Given the description of an element on the screen output the (x, y) to click on. 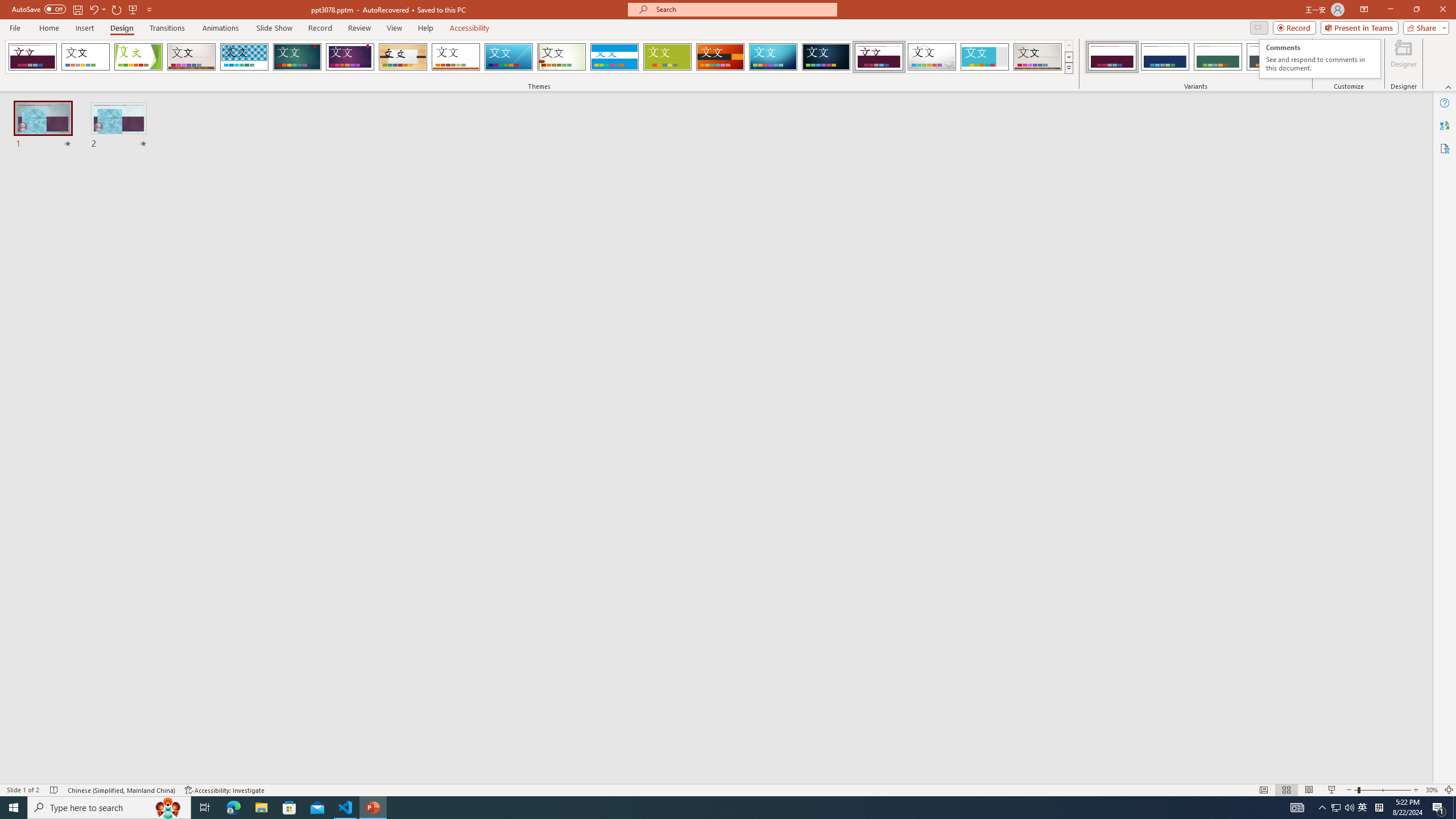
Wisp (561, 56)
Dividend Variant 1 (1112, 56)
Dividend (879, 56)
Dividend Variant 4 (1270, 56)
Facet (138, 56)
Variants (1301, 67)
